Given the description of an element on the screen output the (x, y) to click on. 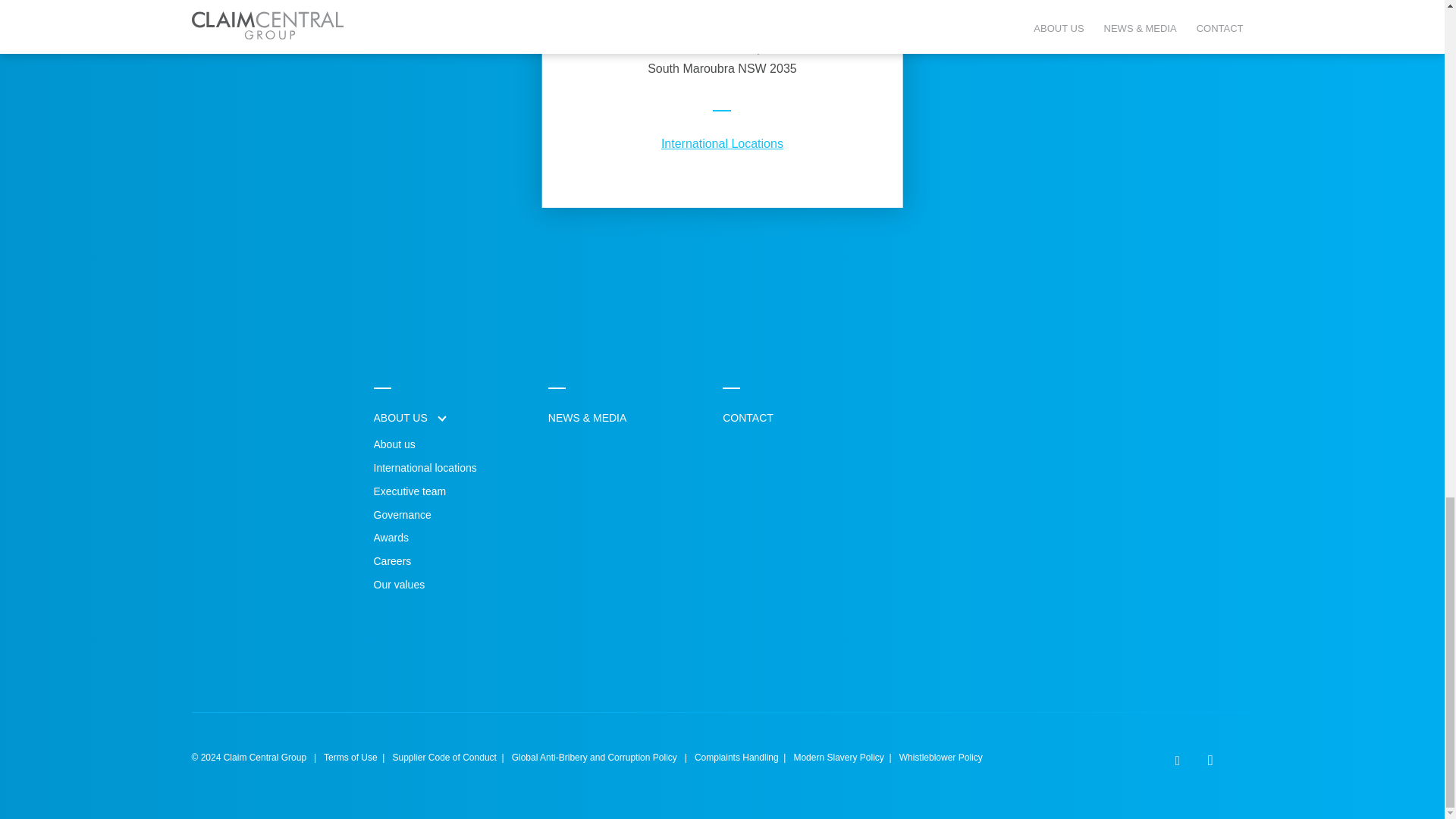
International Locations (722, 143)
